Given the description of an element on the screen output the (x, y) to click on. 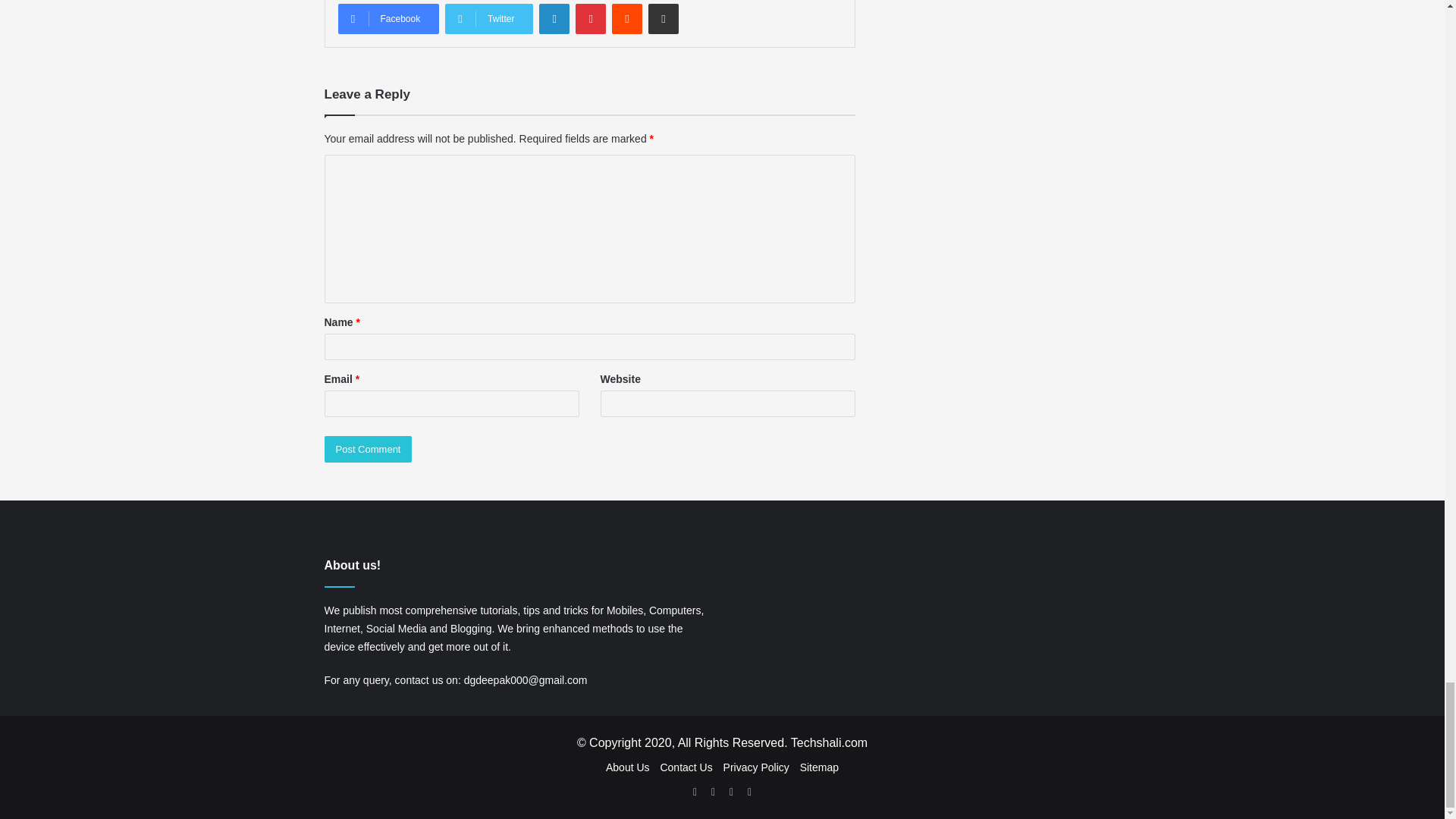
Reddit (626, 19)
Twitter (488, 19)
Share via Email (662, 19)
Reddit (626, 19)
Post Comment (368, 448)
LinkedIn (553, 19)
Pinterest (590, 19)
Facebook (388, 19)
Share via Email (662, 19)
Post Comment (368, 448)
Facebook (388, 19)
Pinterest (590, 19)
Twitter (488, 19)
LinkedIn (553, 19)
